Given the description of an element on the screen output the (x, y) to click on. 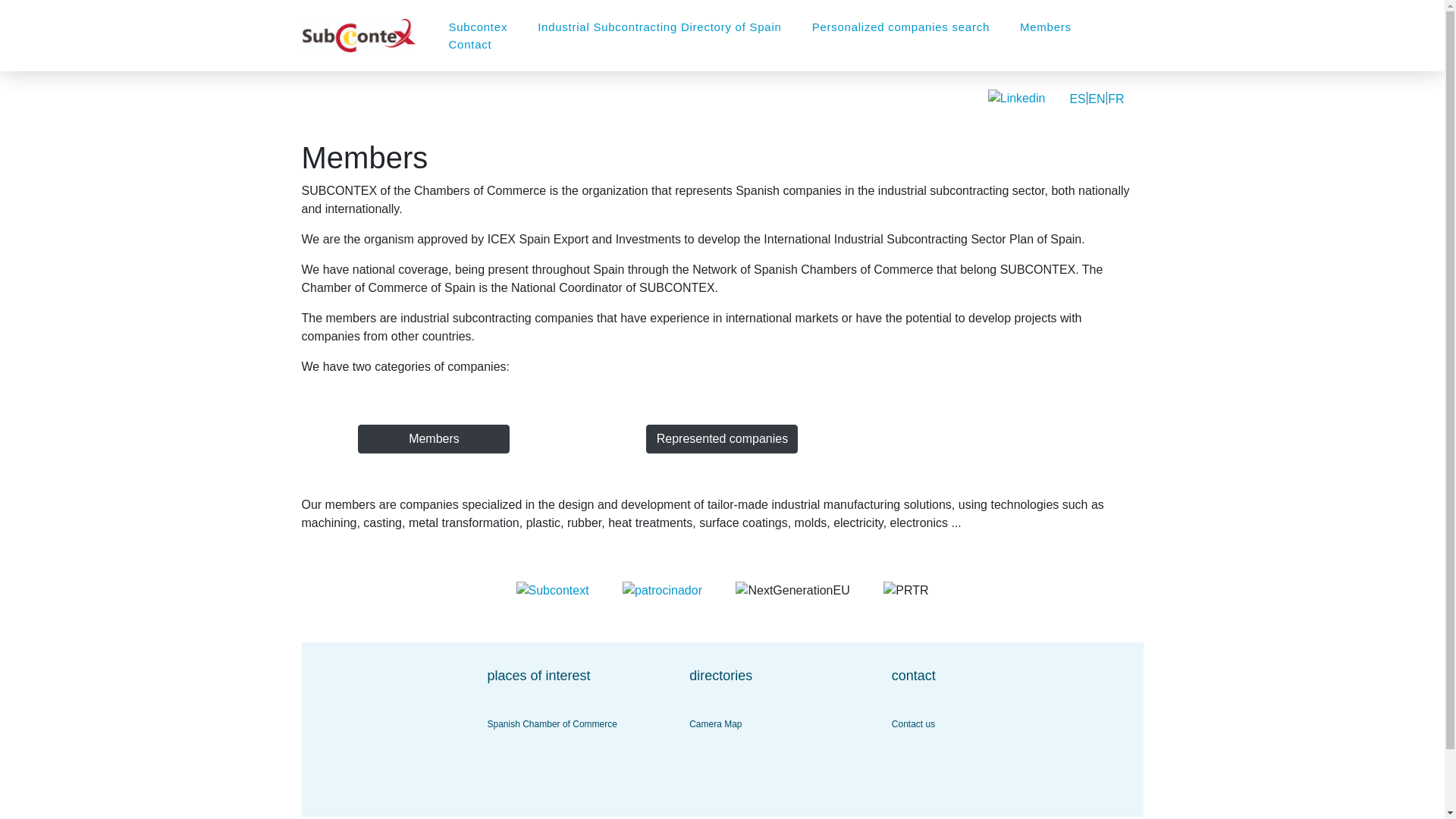
Personalized companies search (900, 27)
Contact us (912, 724)
Spanish Chamber of Commerce (550, 724)
Members (1045, 27)
Members (433, 439)
Subcontex (477, 27)
EN (1096, 99)
Camera Map (714, 724)
Industrial Subcontracting Directory of Spain (659, 27)
